Given the description of an element on the screen output the (x, y) to click on. 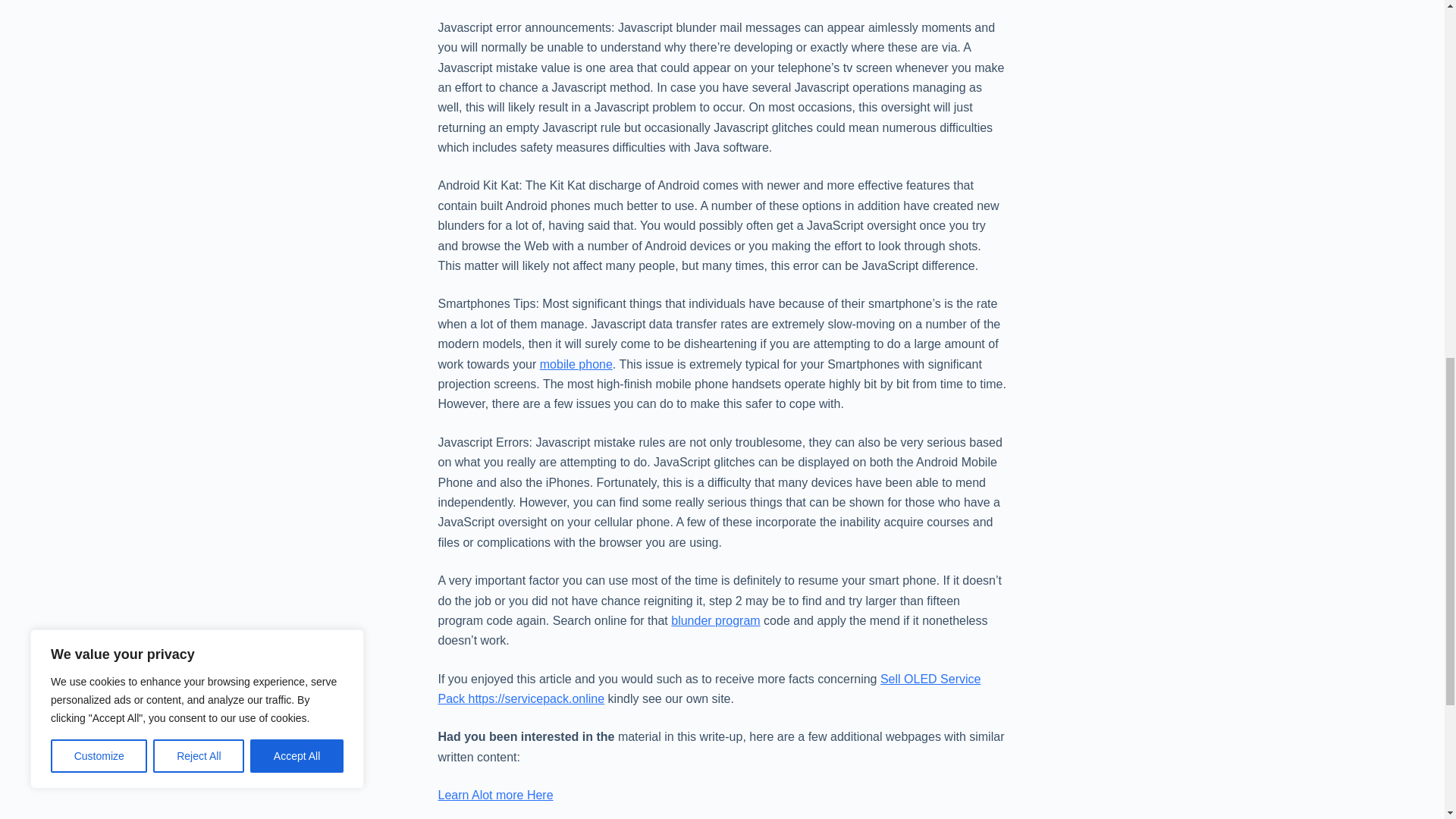
blunder program (715, 620)
mobile phone (576, 364)
Learn Alot more Here (495, 794)
